Given the description of an element on the screen output the (x, y) to click on. 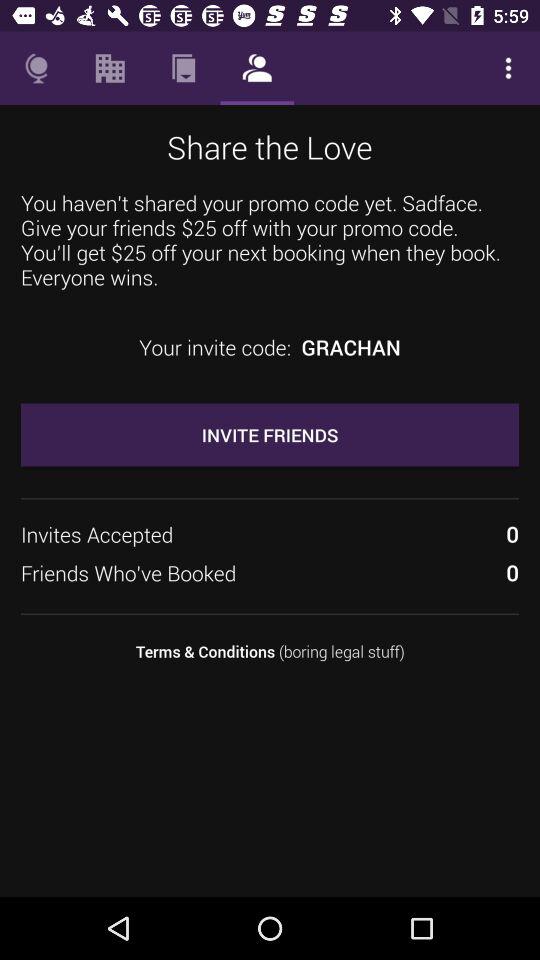
turn on the icon next to the your invite code: item (350, 347)
